Given the description of an element on the screen output the (x, y) to click on. 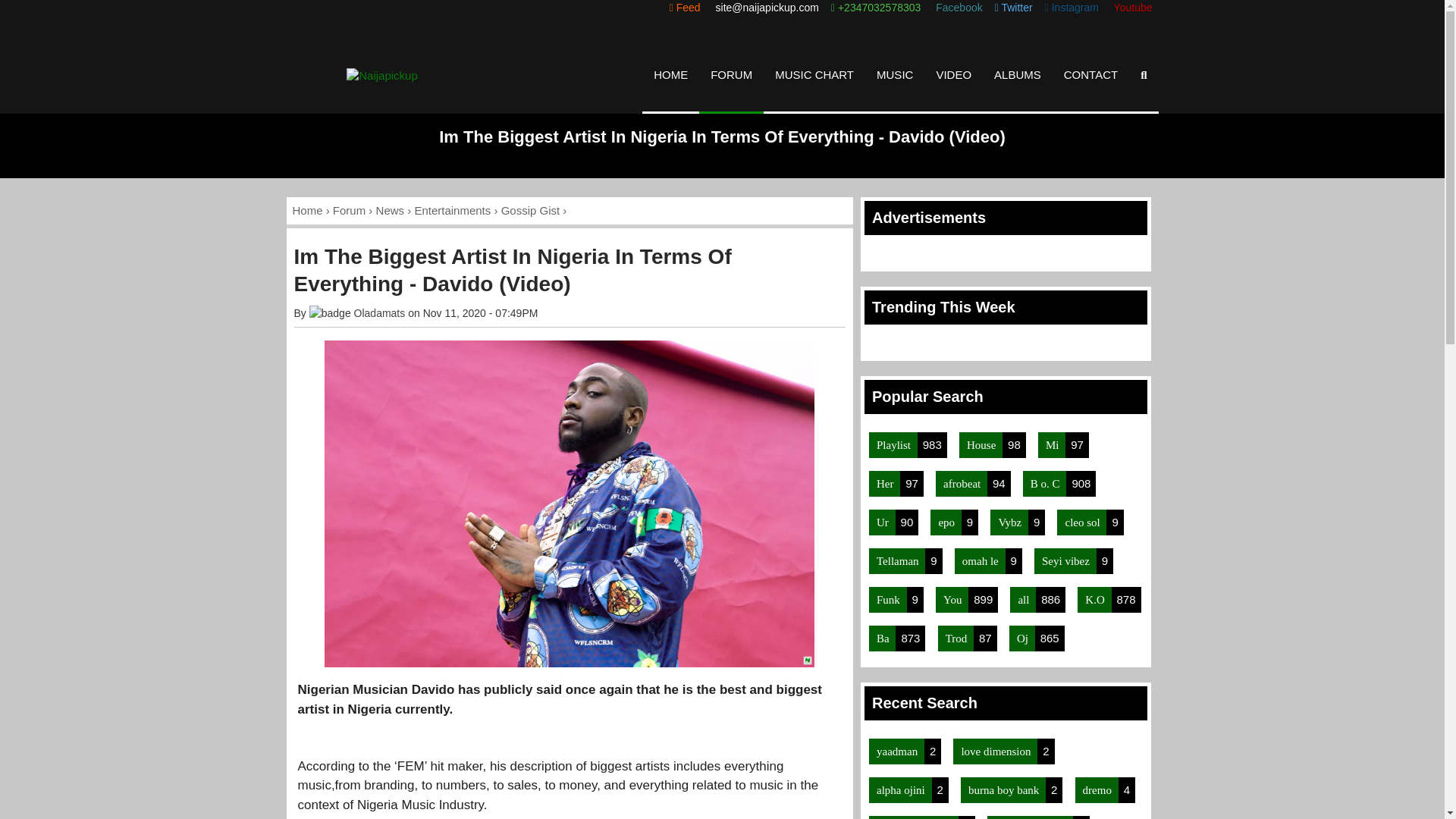
Gossip Gist (530, 210)
Youtube (1131, 7)
Music (813, 74)
Facebook (957, 7)
MUSIC CHART (813, 74)
Oladamats (379, 313)
afrobeat (961, 483)
Forum (349, 210)
Home (307, 210)
Her (884, 483)
Entertainments (451, 210)
CONTACT (1090, 74)
House (981, 444)
B o. C (1045, 483)
Playlist (893, 444)
